Given the description of an element on the screen output the (x, y) to click on. 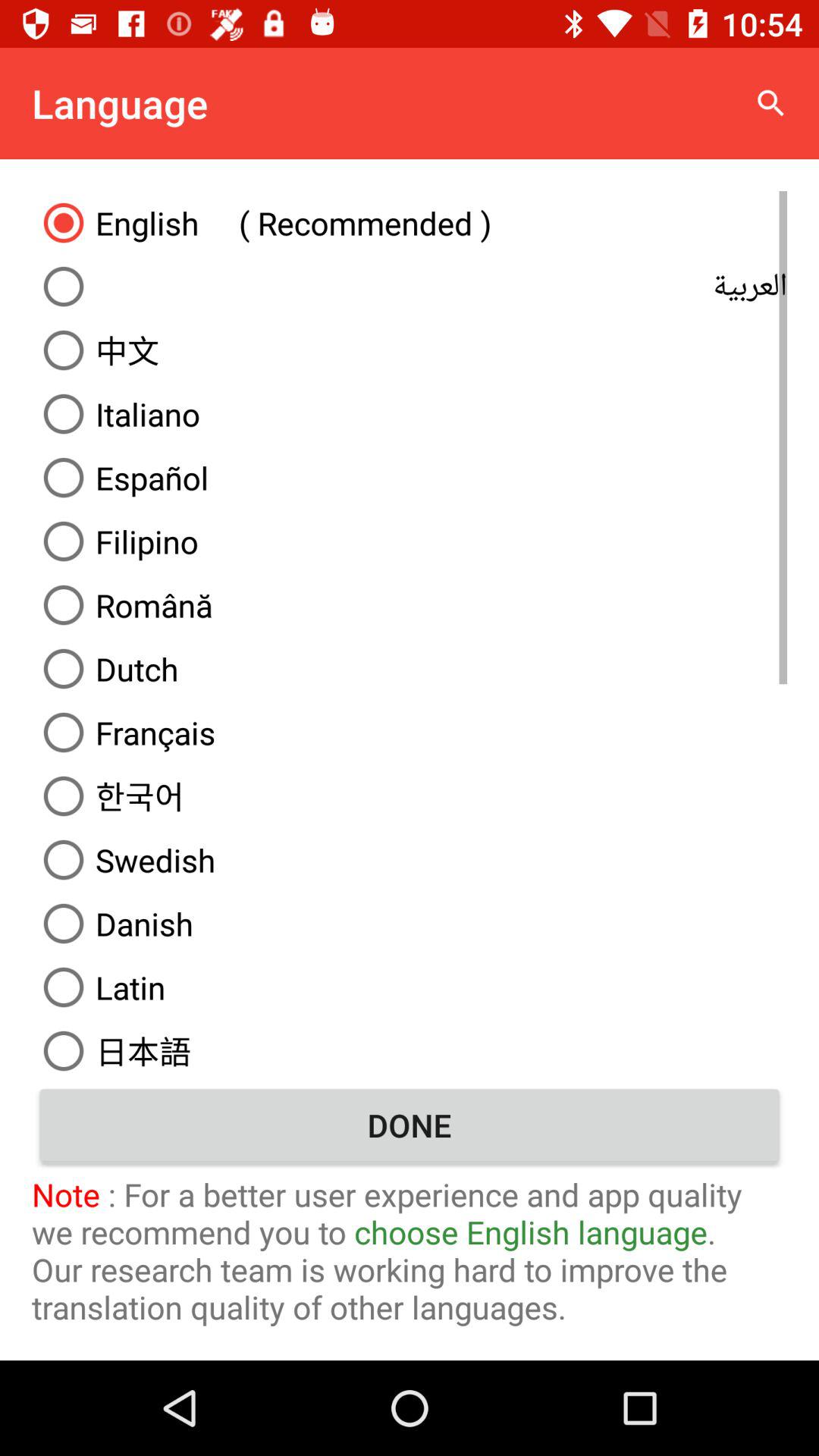
choose icon below the swedish icon (409, 923)
